Given the description of an element on the screen output the (x, y) to click on. 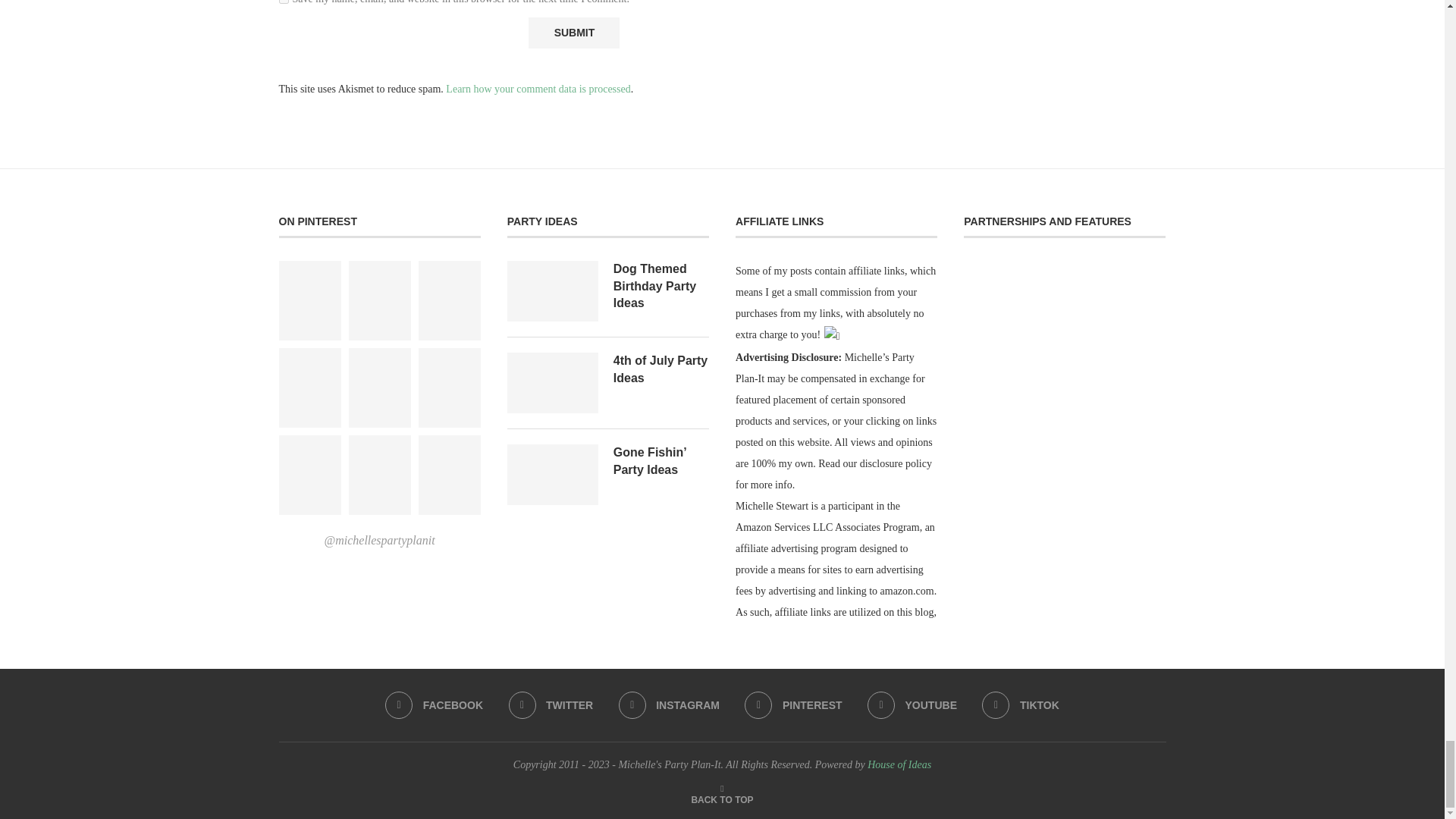
yes (283, 2)
Submit (574, 32)
